Given the description of an element on the screen output the (x, y) to click on. 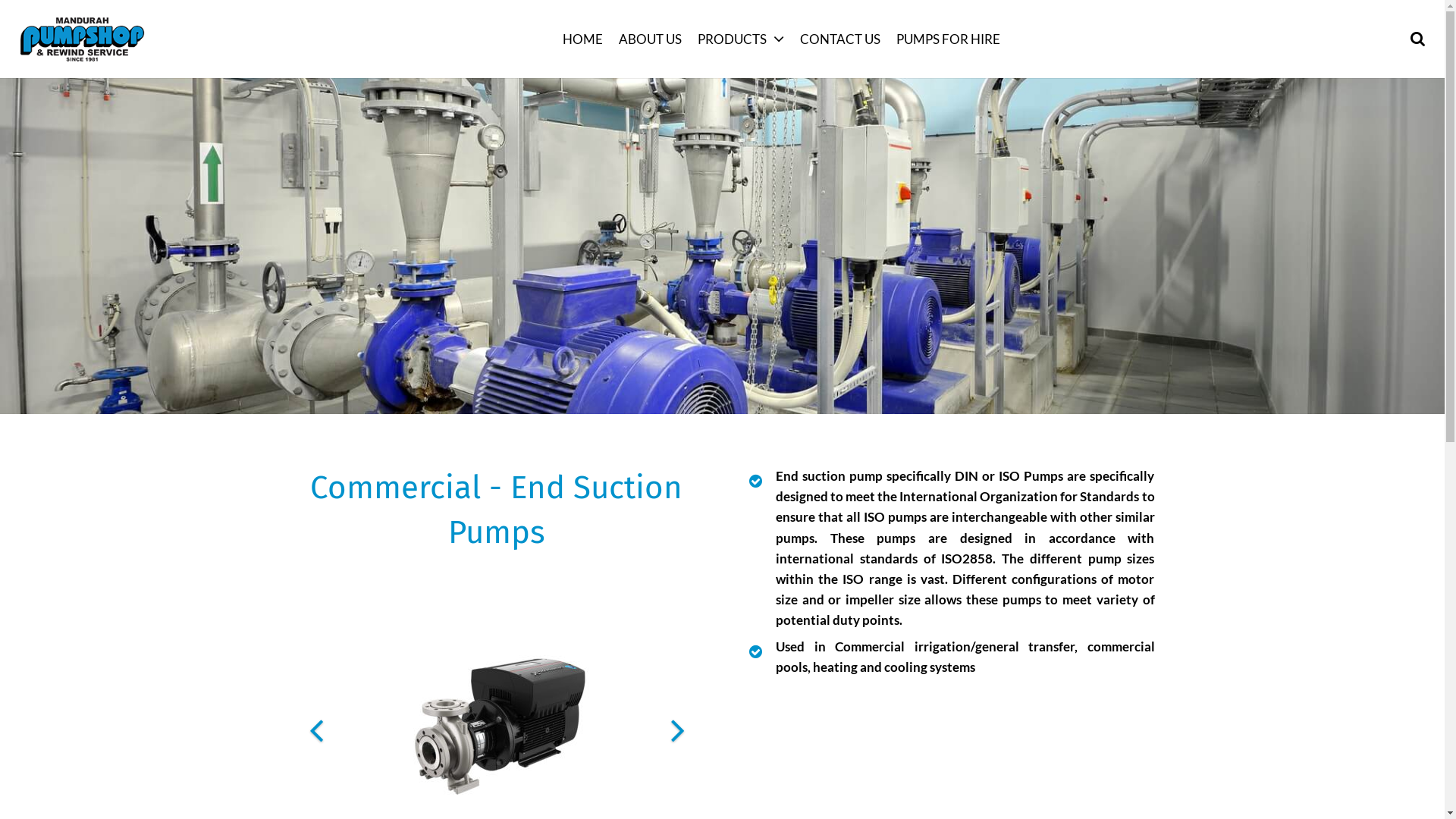
ABOUT US Element type: text (650, 39)
CONTACT US Element type: text (840, 39)
PRODUCTS Element type: text (741, 39)
HOME Element type: text (583, 39)
PUMPS FOR HIRE Element type: text (948, 39)
